Given the description of an element on the screen output the (x, y) to click on. 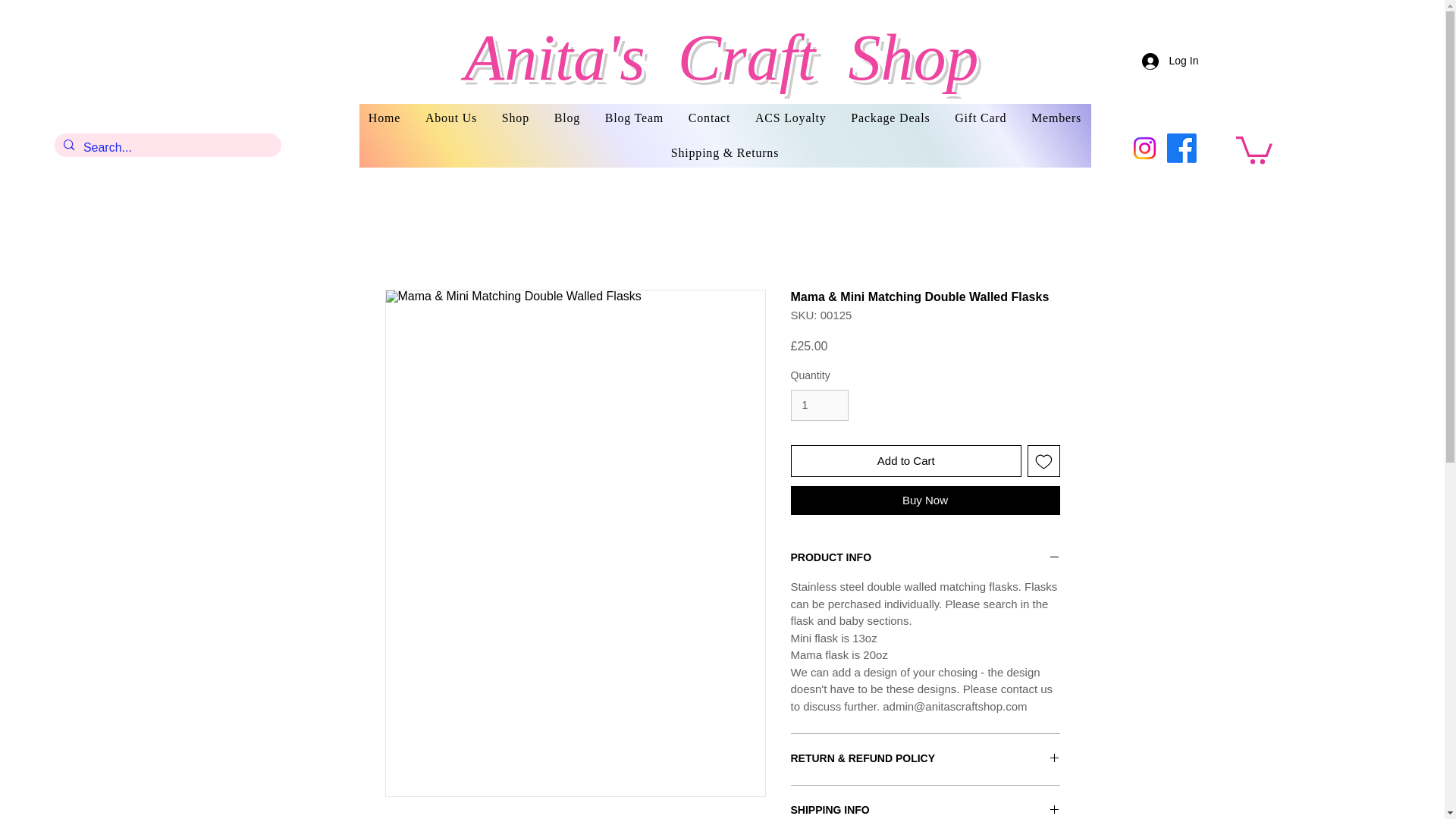
Contact (708, 118)
Log In (1164, 61)
Members (1056, 118)
PRODUCT INFO (924, 558)
Gift Card (980, 118)
Package Deals (890, 118)
Anita's  Craft  Shop (721, 57)
1 (818, 404)
Buy Now (924, 500)
SHIPPING INFO (924, 810)
